Given the description of an element on the screen output the (x, y) to click on. 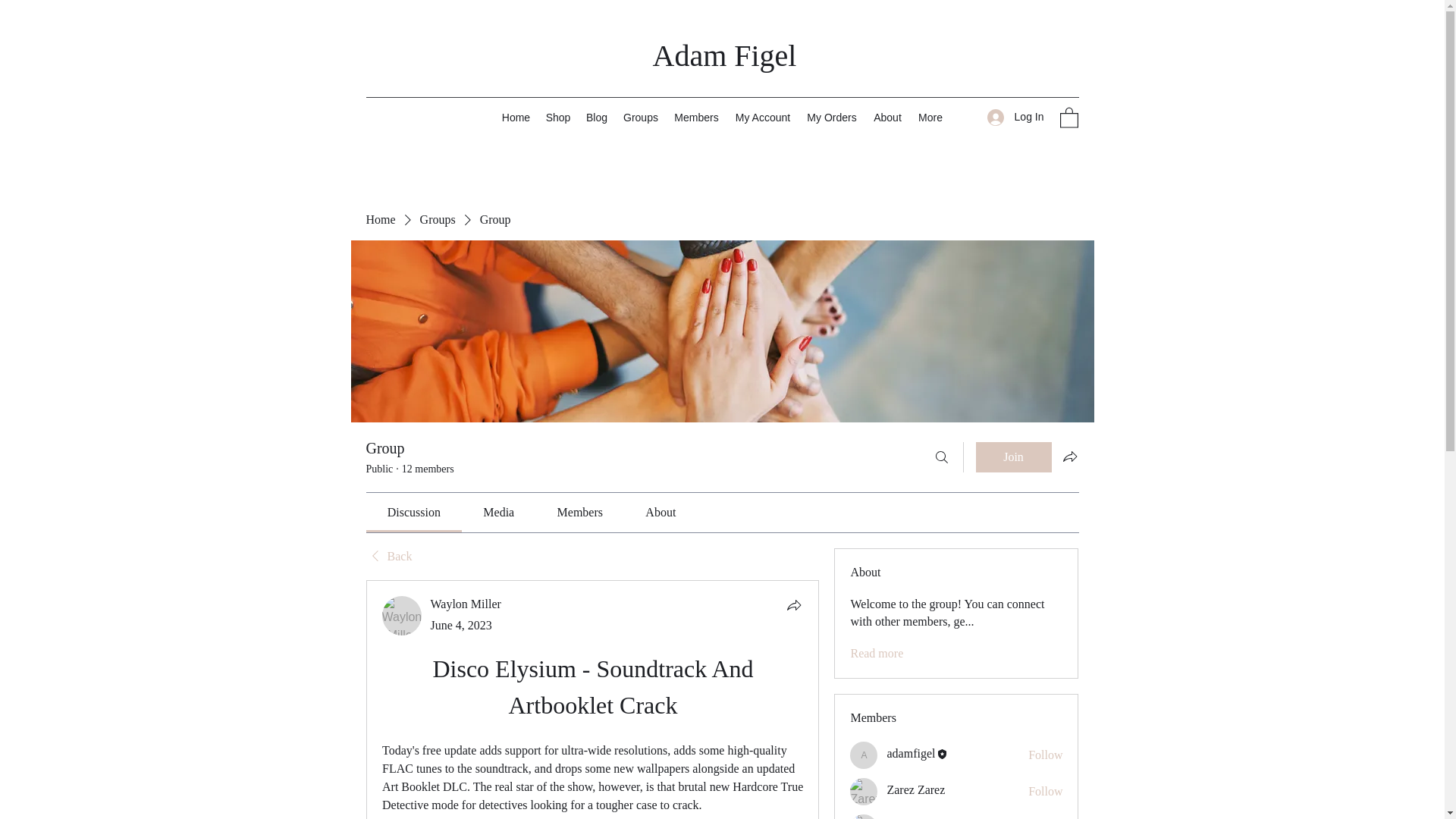
My Account (761, 117)
Blog (596, 117)
Shop (558, 117)
About (887, 117)
Zarez Zarez (863, 791)
Groups (640, 117)
Follow (1044, 791)
Home (379, 219)
June 4, 2023 (461, 625)
Read more (876, 653)
